Given the description of an element on the screen output the (x, y) to click on. 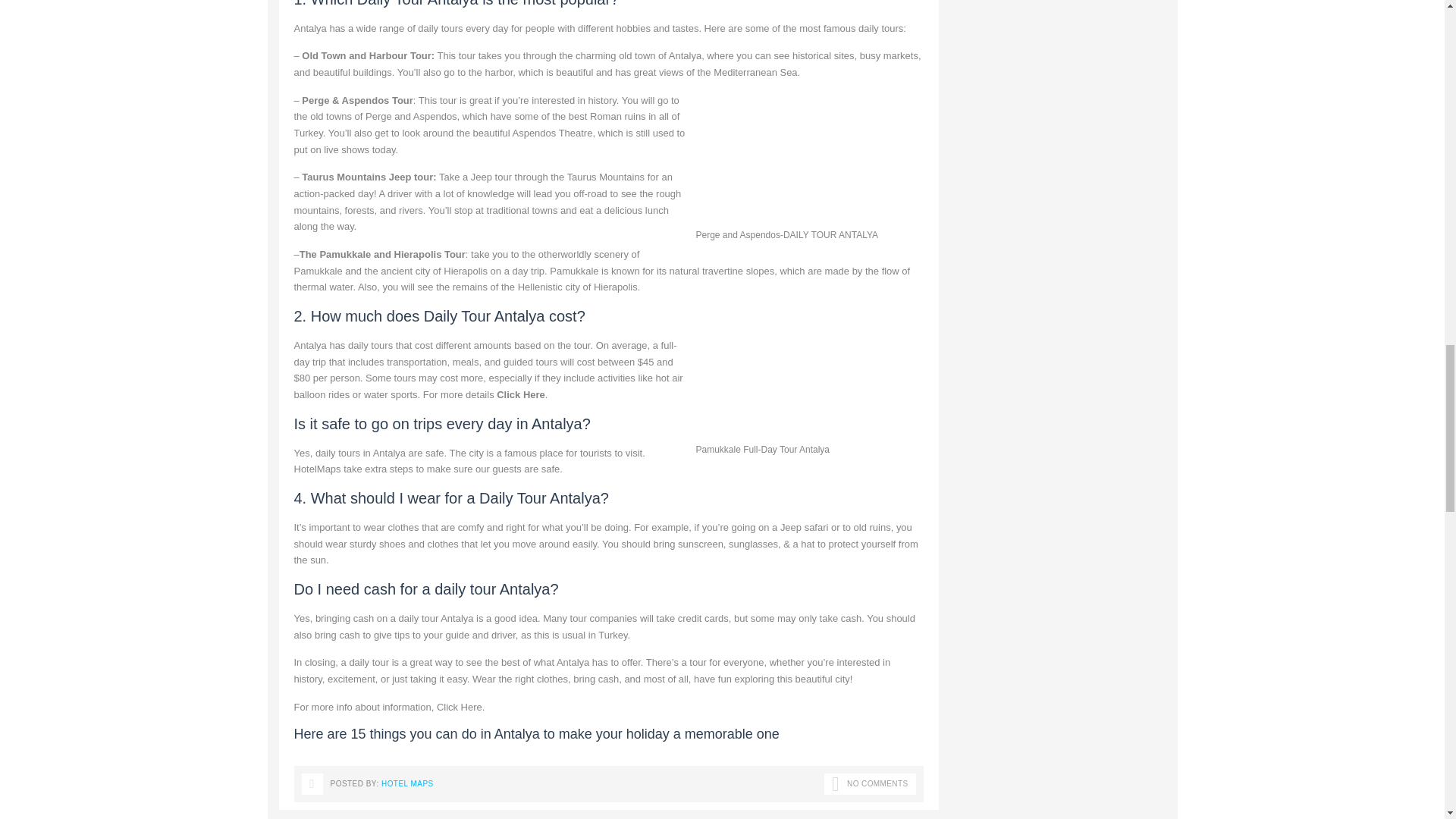
Posts by Hotel Maps (407, 783)
